Given the description of an element on the screen output the (x, y) to click on. 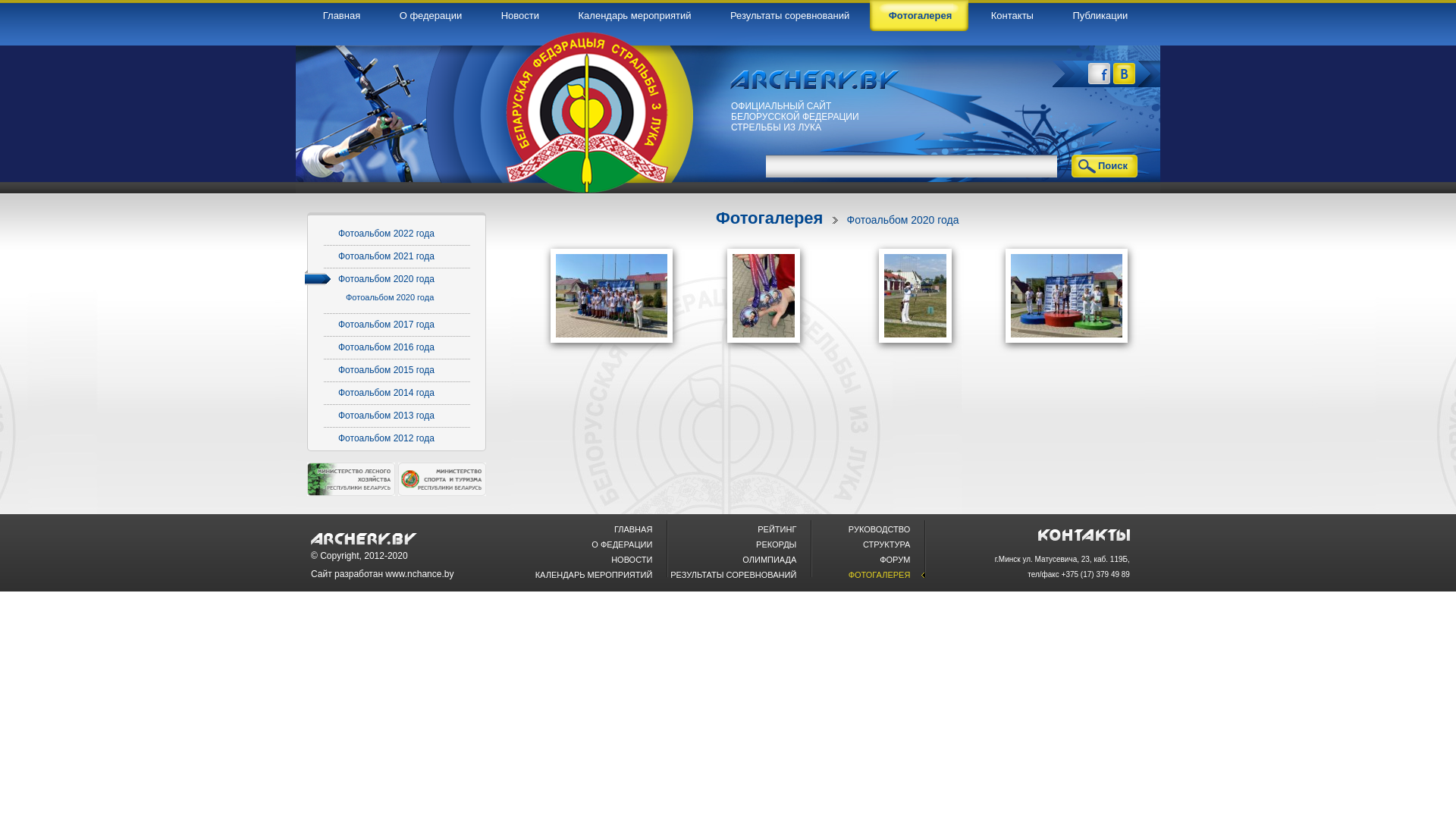
www.nchance.by Element type: text (419, 573)
